Given the description of an element on the screen output the (x, y) to click on. 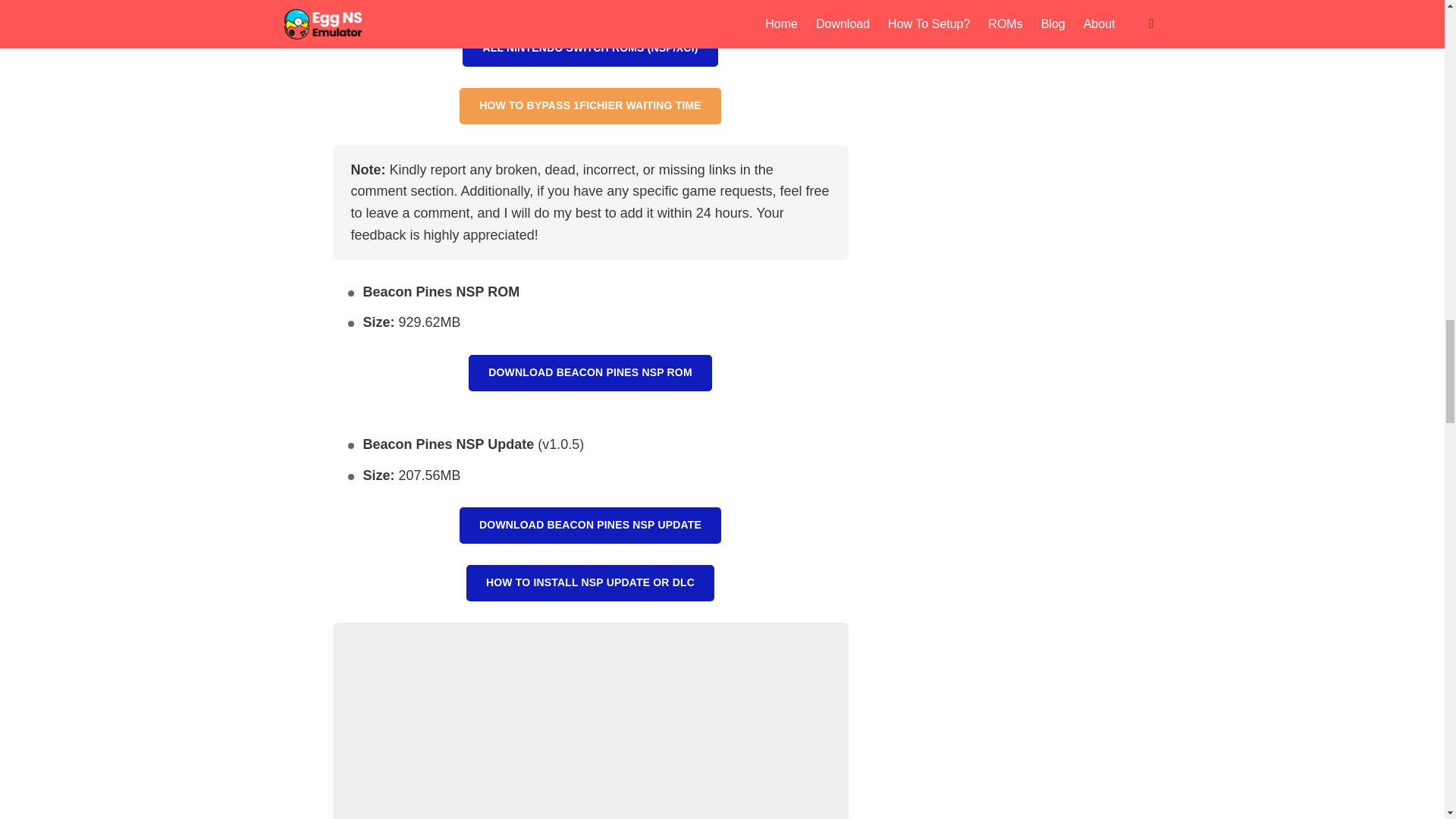
HOW TO BYPASS 1FICHIER WAITING TIME (590, 105)
HOW TO INSTALL NSP UPDATE OR DLC (589, 583)
Beacon Pines - Launch Trailer - Nintendo Switch (589, 720)
DOWNLOAD BEACON PINES NSP ROM (589, 372)
DOWNLOAD BEACON PINES NSP UPDATE (590, 524)
